Given the description of an element on the screen output the (x, y) to click on. 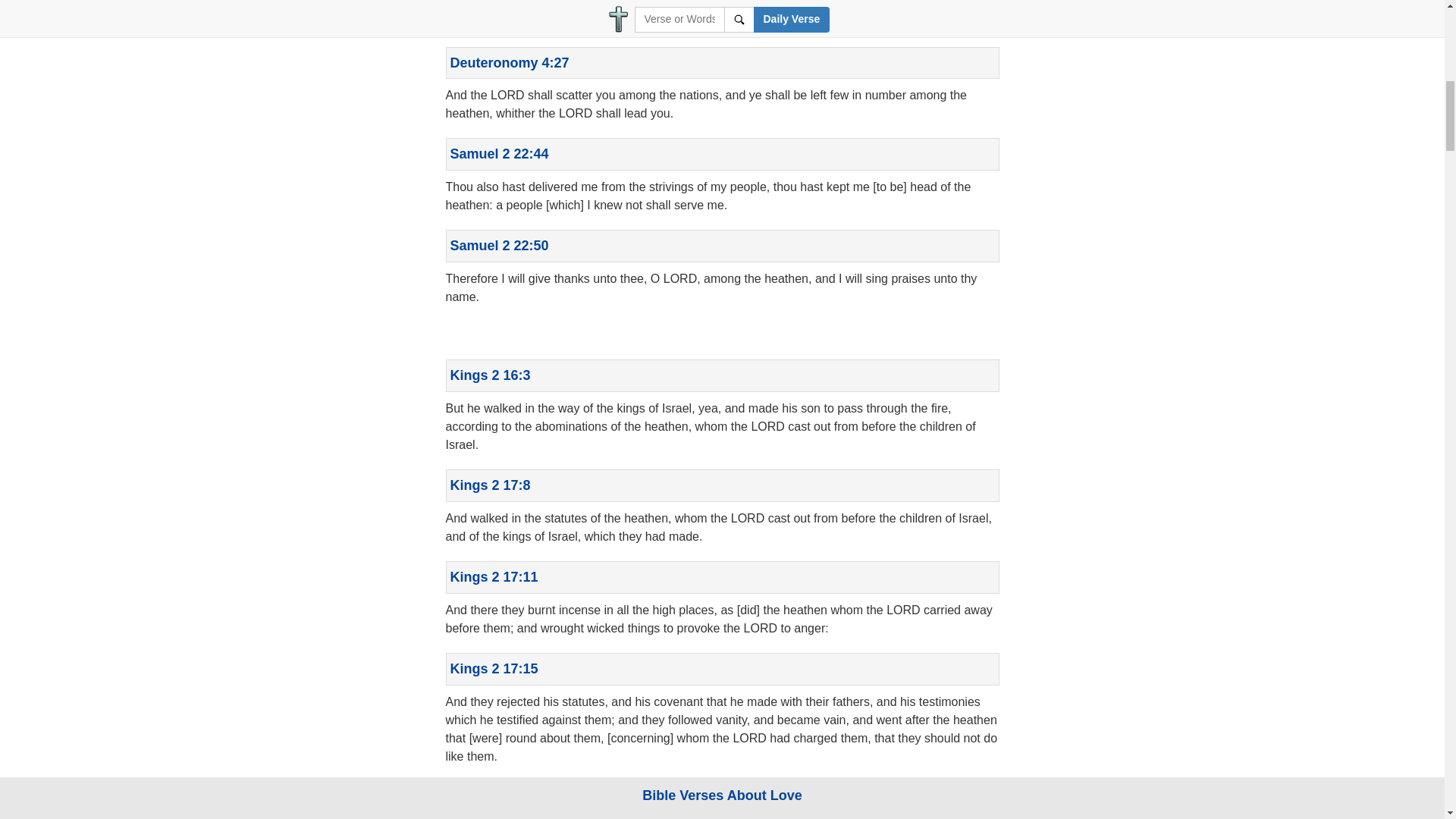
Kings 2 17:8 (490, 485)
Kings 2 17:15 (493, 668)
Samuel 2 22:50 (498, 245)
Kings 2 17:11 (493, 576)
Kings 2 21:2 (490, 796)
Deuteronomy 4:27 (509, 62)
Samuel 2 22:44 (498, 153)
Kings 2 16:3 (490, 375)
